Given the description of an element on the screen output the (x, y) to click on. 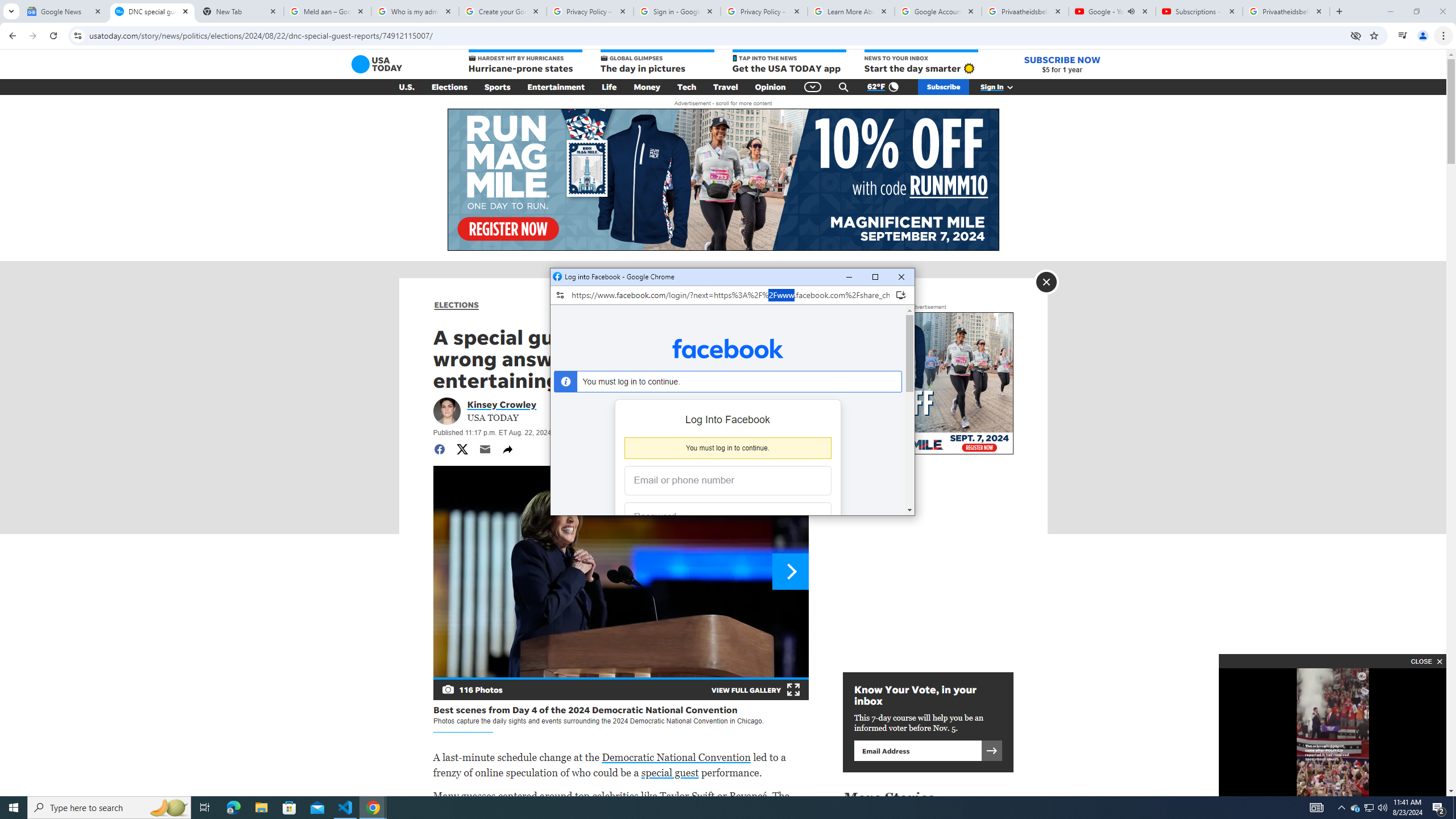
Create your Google Account (502, 11)
Subscriptions - YouTube (1198, 11)
Opinion (770, 87)
Search (843, 87)
Democratic National Convention (676, 757)
SUBSCRIBE NOW $5 for 1 year (1062, 64)
Google Chrome - 2 running windows (373, 807)
Life (609, 87)
Task View (204, 807)
Search highlights icon opens search home window (167, 807)
Start (13, 807)
